Given the description of an element on the screen output the (x, y) to click on. 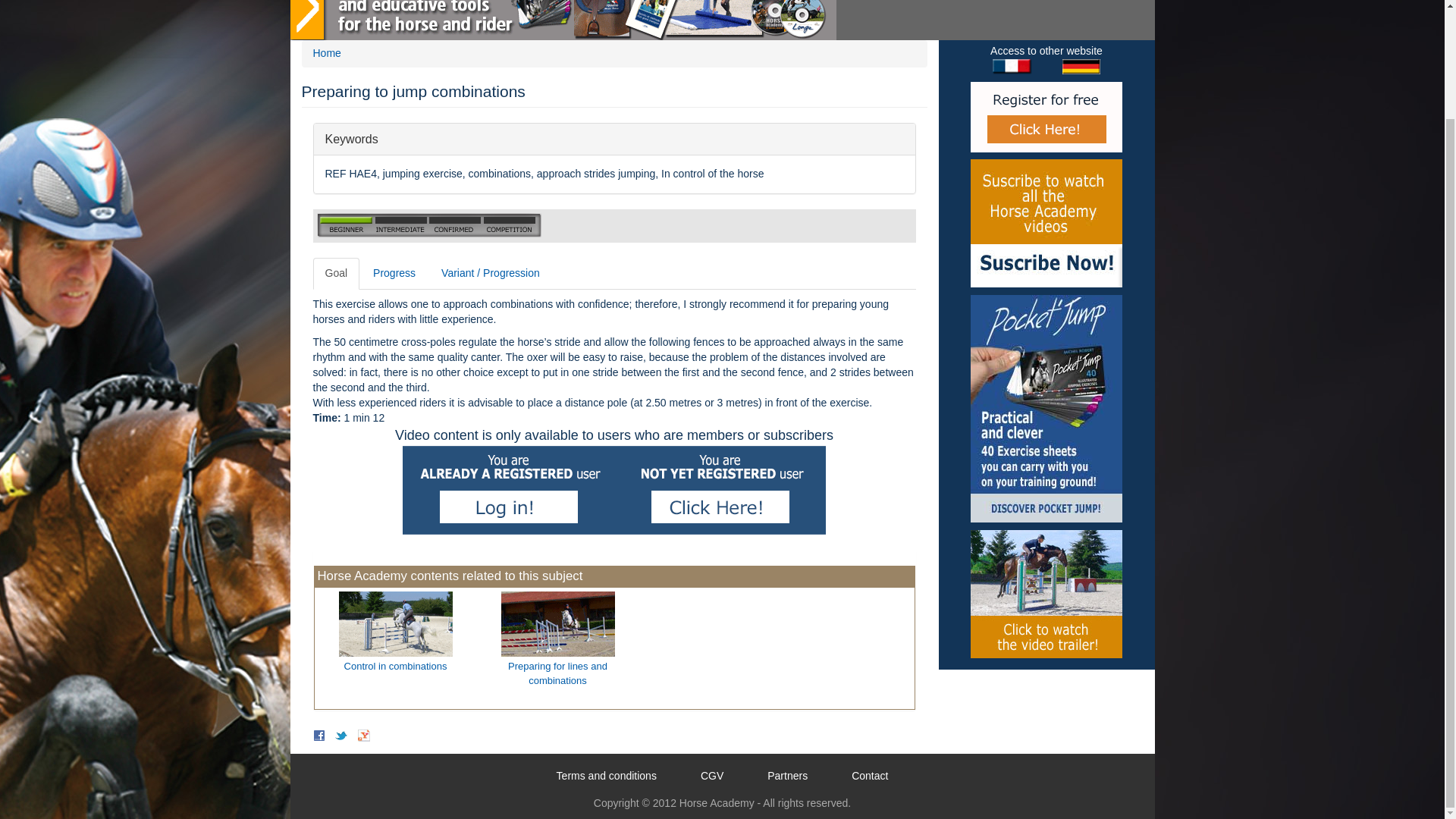
Register for free (1046, 116)
Home (326, 52)
Bookmark this post on Yahoo (363, 735)
Video trailer (1046, 593)
Goal (614, 138)
Preparing for lines and combinations (336, 273)
Share this on Twitter (557, 639)
Subscribe! (340, 735)
Share on Facebook (1046, 222)
